Given the description of an element on the screen output the (x, y) to click on. 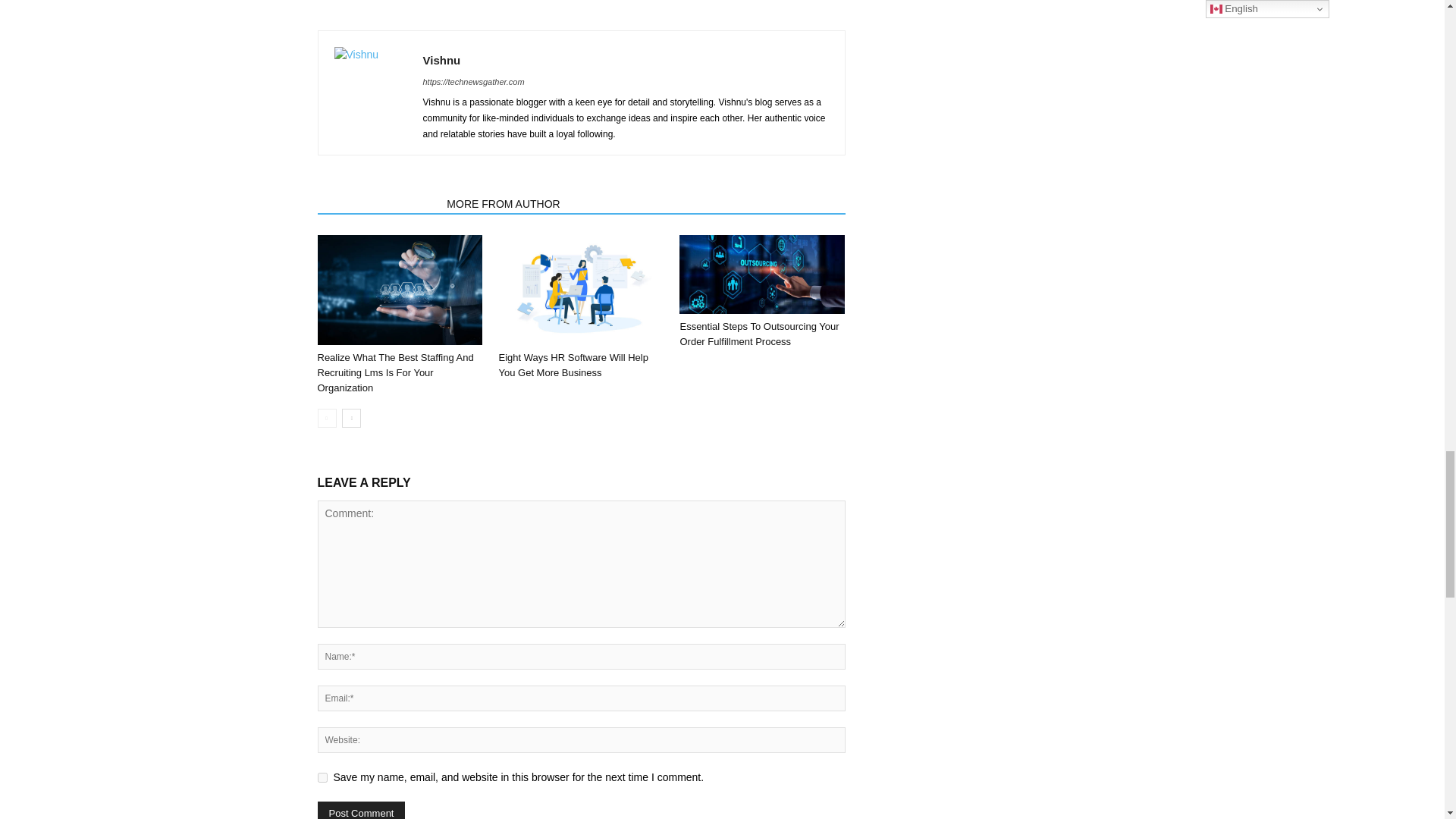
yes (321, 777)
Post Comment (360, 810)
